Given the description of an element on the screen output the (x, y) to click on. 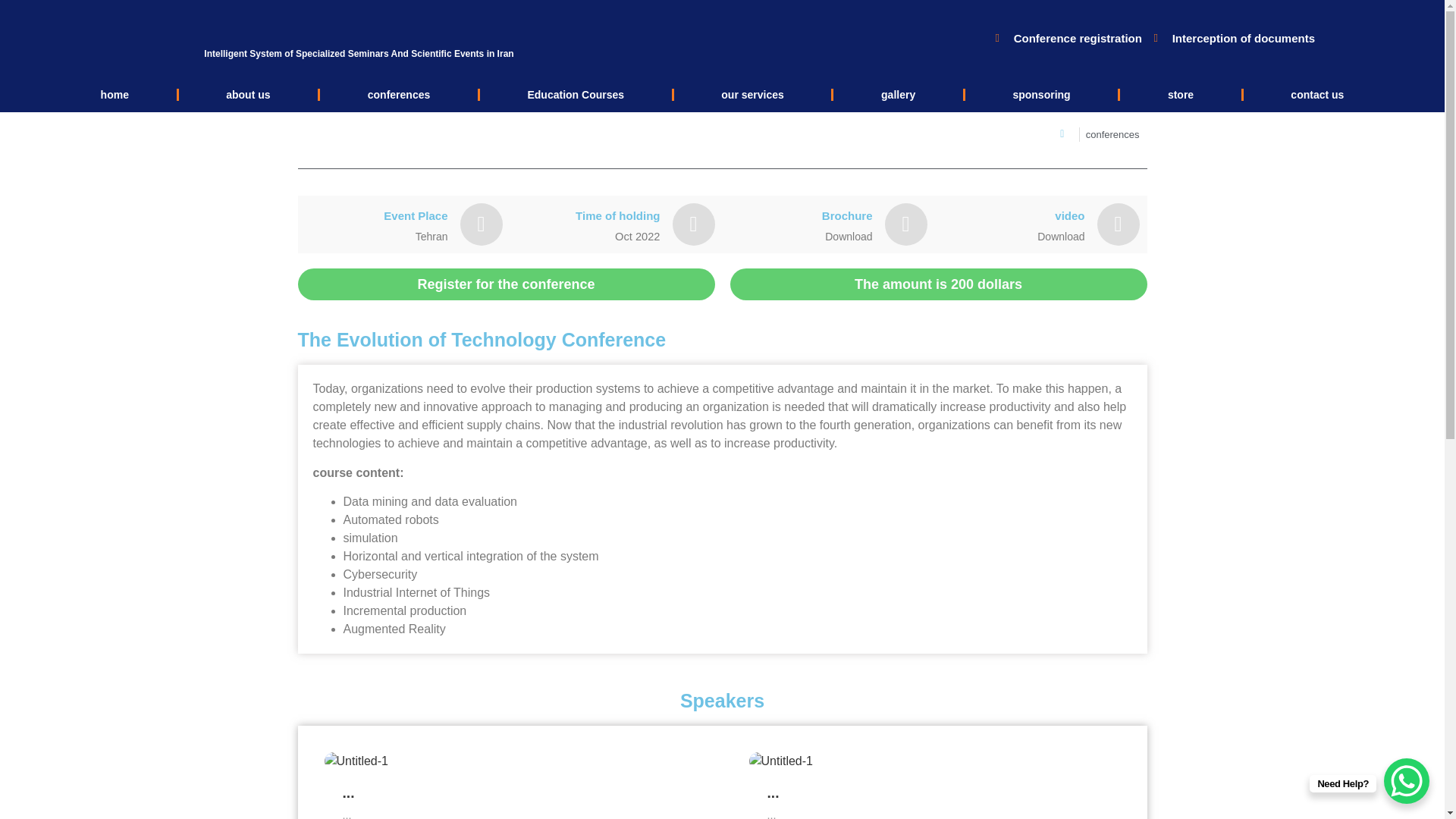
sponsoring (1041, 94)
Interception of documents (1231, 38)
home (114, 94)
Untitled-1 (935, 761)
The amount is 200 dollars (938, 284)
Education Courses (575, 94)
Conference registration (1065, 38)
Register for the conference (505, 284)
our services (752, 94)
conferences (398, 94)
